Given the description of an element on the screen output the (x, y) to click on. 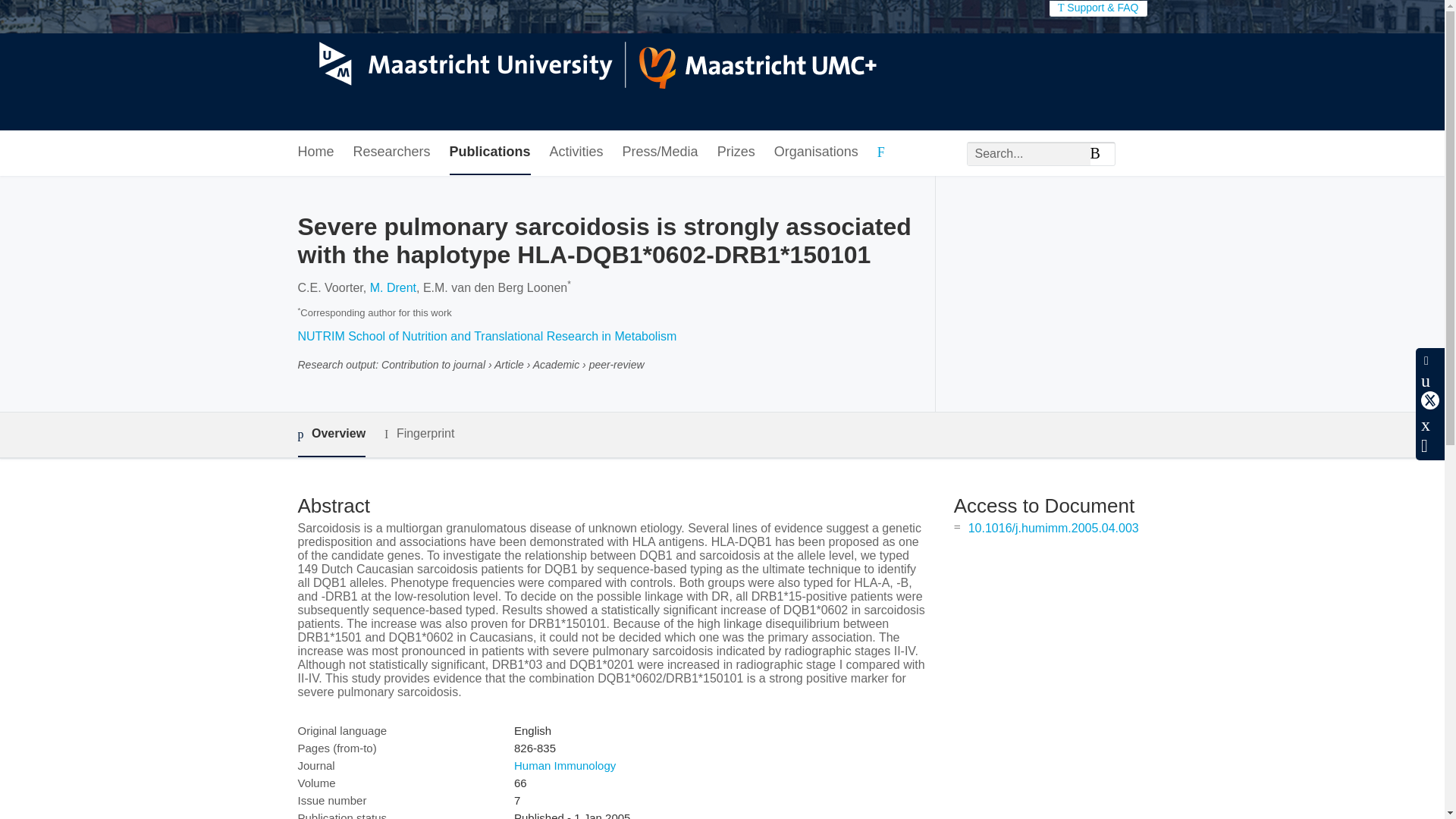
Human Immunology (564, 765)
Fingerprint (419, 433)
Overview (331, 434)
Organisations (816, 152)
Publications (490, 152)
Maastricht University Home (586, 64)
M. Drent (392, 287)
Activities (577, 152)
